Given the description of an element on the screen output the (x, y) to click on. 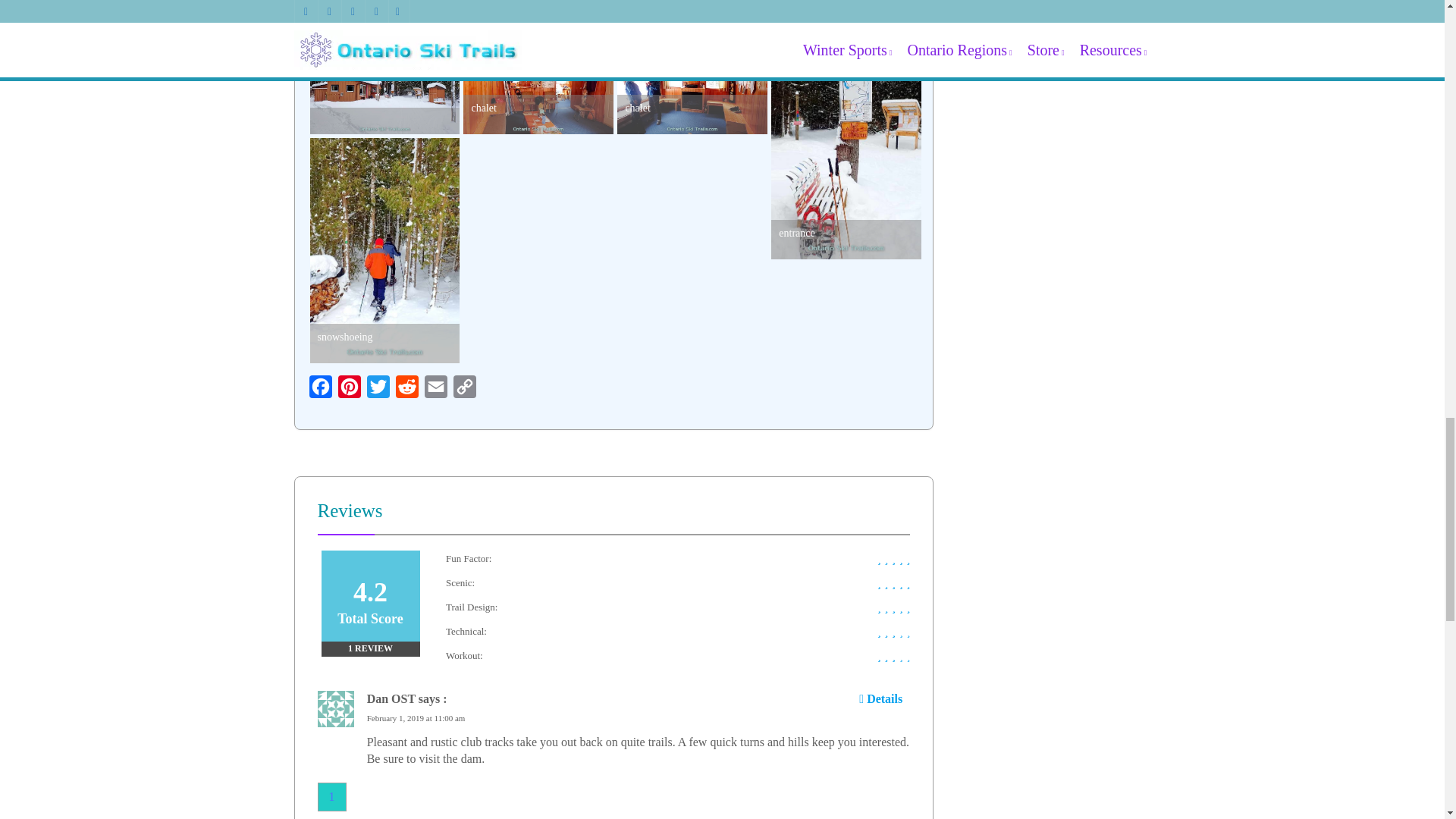
chalet (537, 84)
chalet (692, 84)
